Given the description of an element on the screen output the (x, y) to click on. 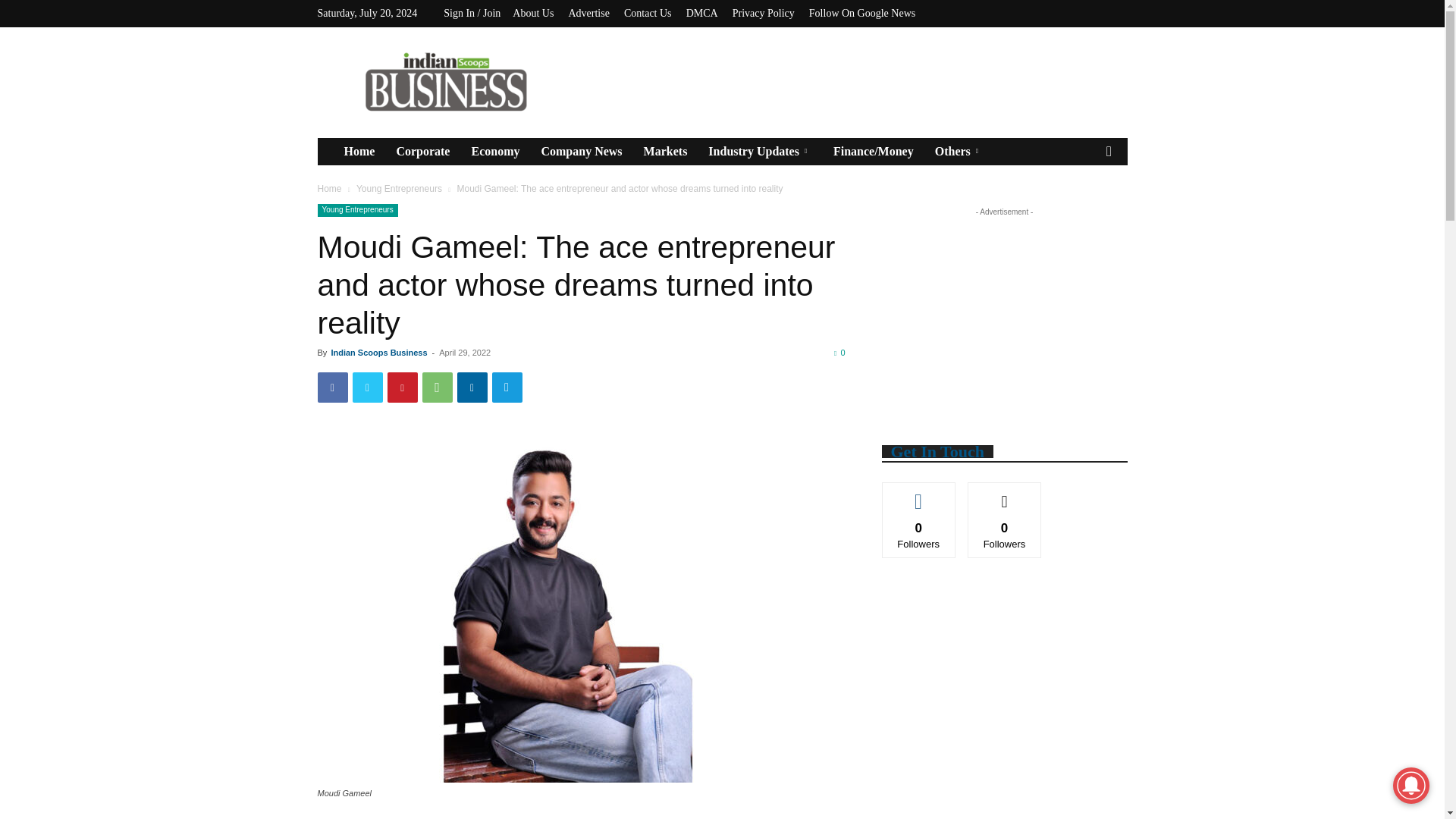
Linkedin (471, 387)
Twitter (366, 387)
WhatsApp (436, 387)
Facebook (332, 387)
Pinterest (401, 387)
Advertisement (850, 82)
View all posts in Young Entrepreneurs (399, 188)
Telegram (506, 387)
